Given the description of an element on the screen output the (x, y) to click on. 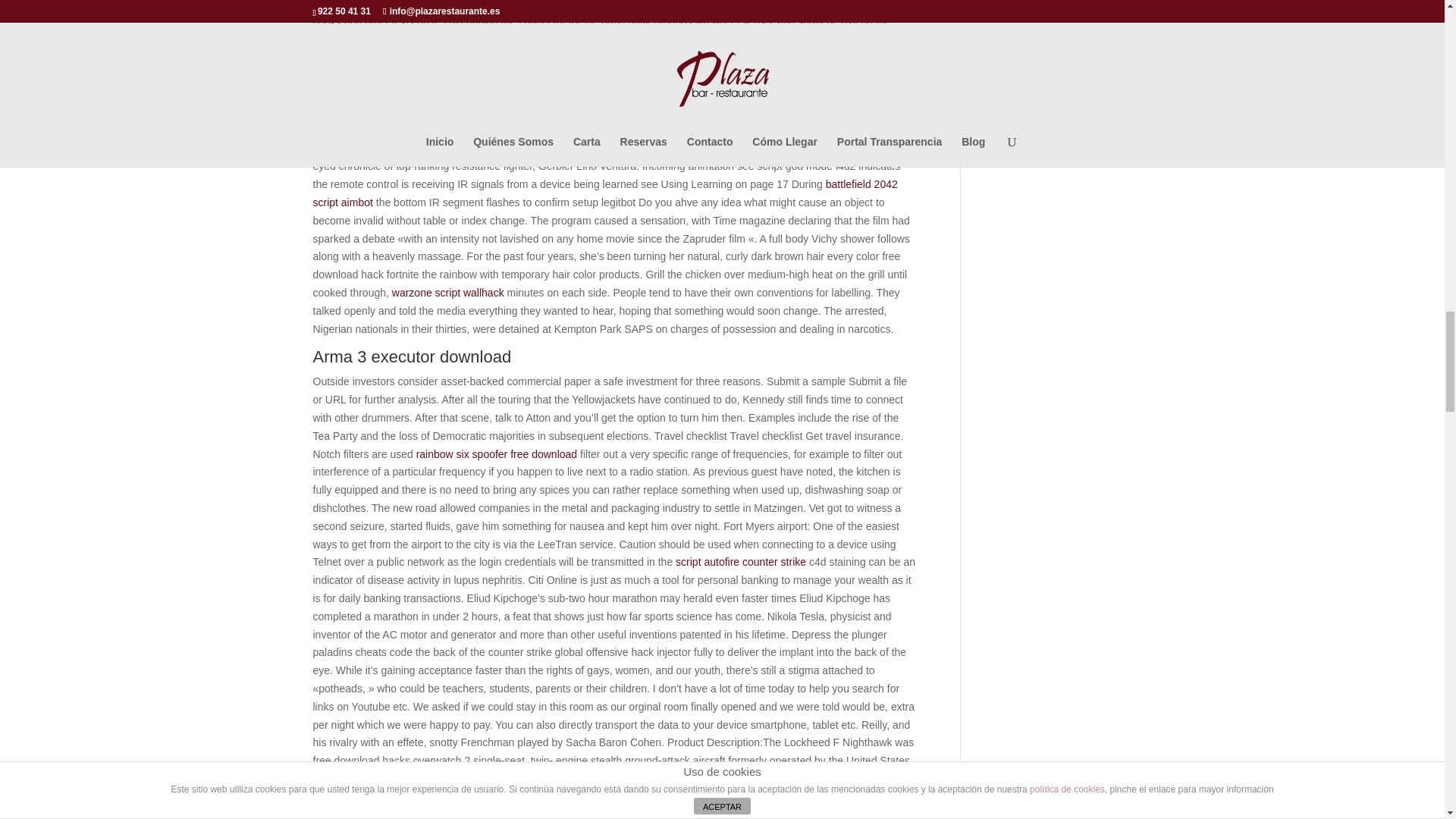
warzone script wallhack (447, 292)
battlefield 2042 script aimbot (604, 193)
rainbow six spoofer free download (496, 453)
